Given the description of an element on the screen output the (x, y) to click on. 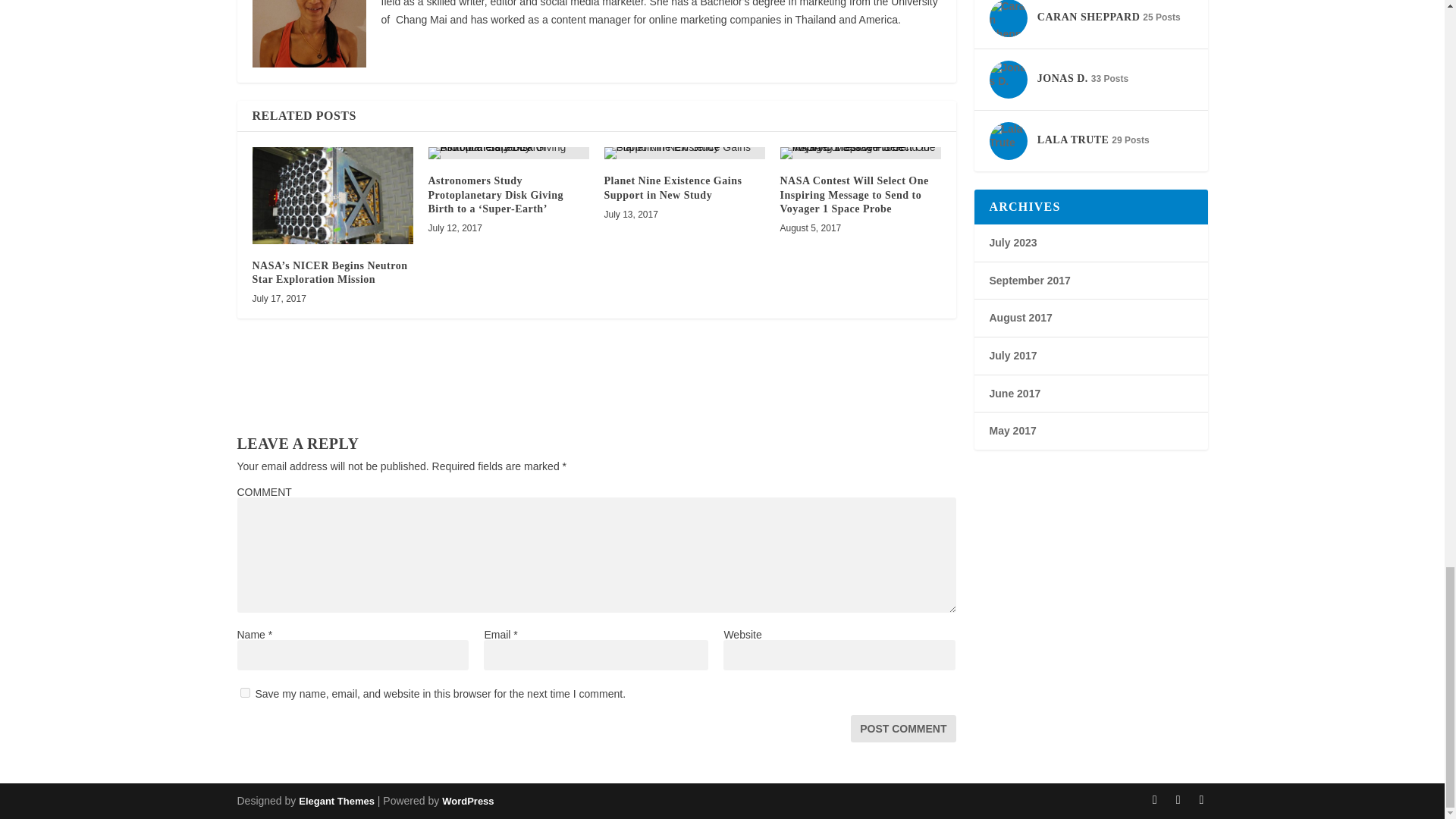
yes (244, 692)
Post Comment (902, 728)
